Given the description of an element on the screen output the (x, y) to click on. 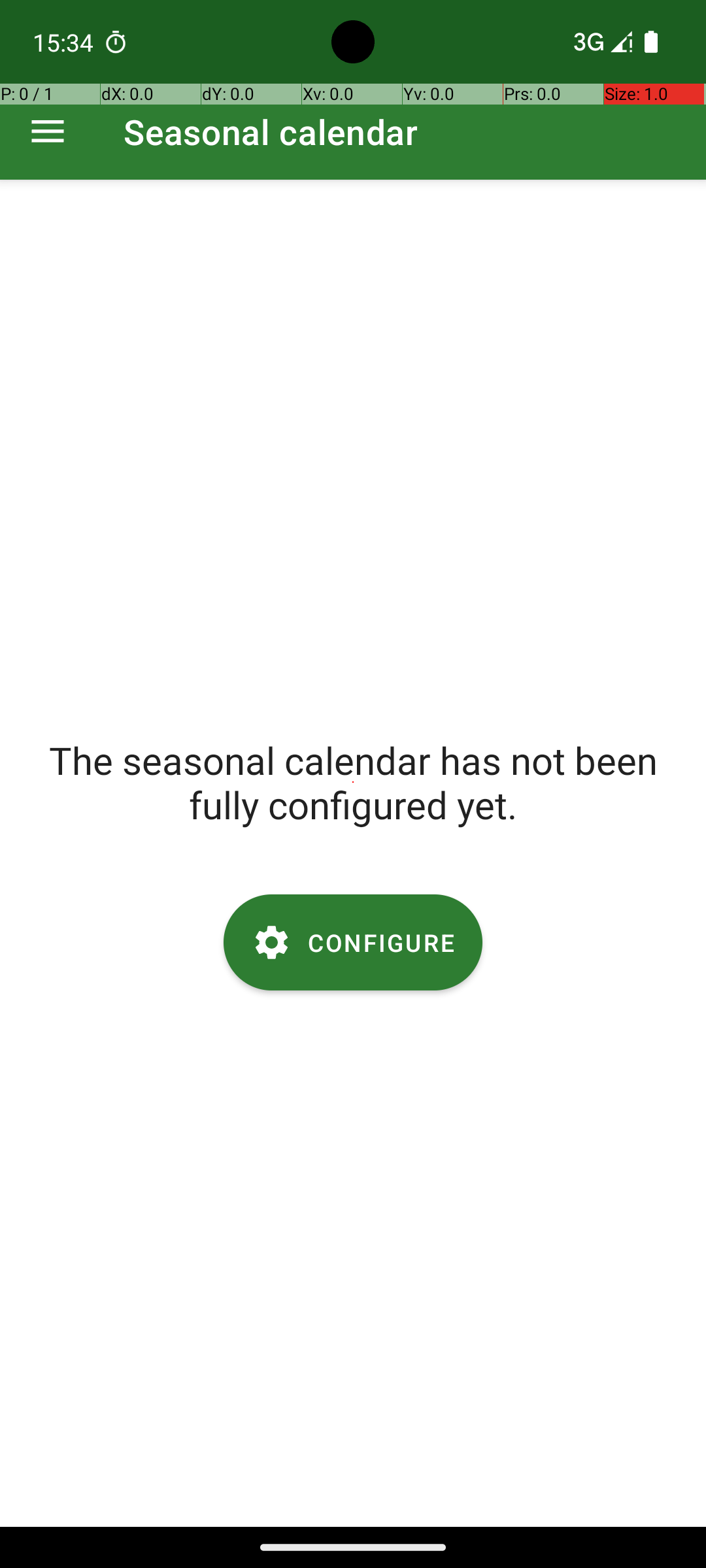
The seasonal calendar has not been fully configured yet. Element type: android.widget.TextView (353, 781)
CONFIGURE Element type: android.widget.Button (352, 942)
